Given the description of an element on the screen output the (x, y) to click on. 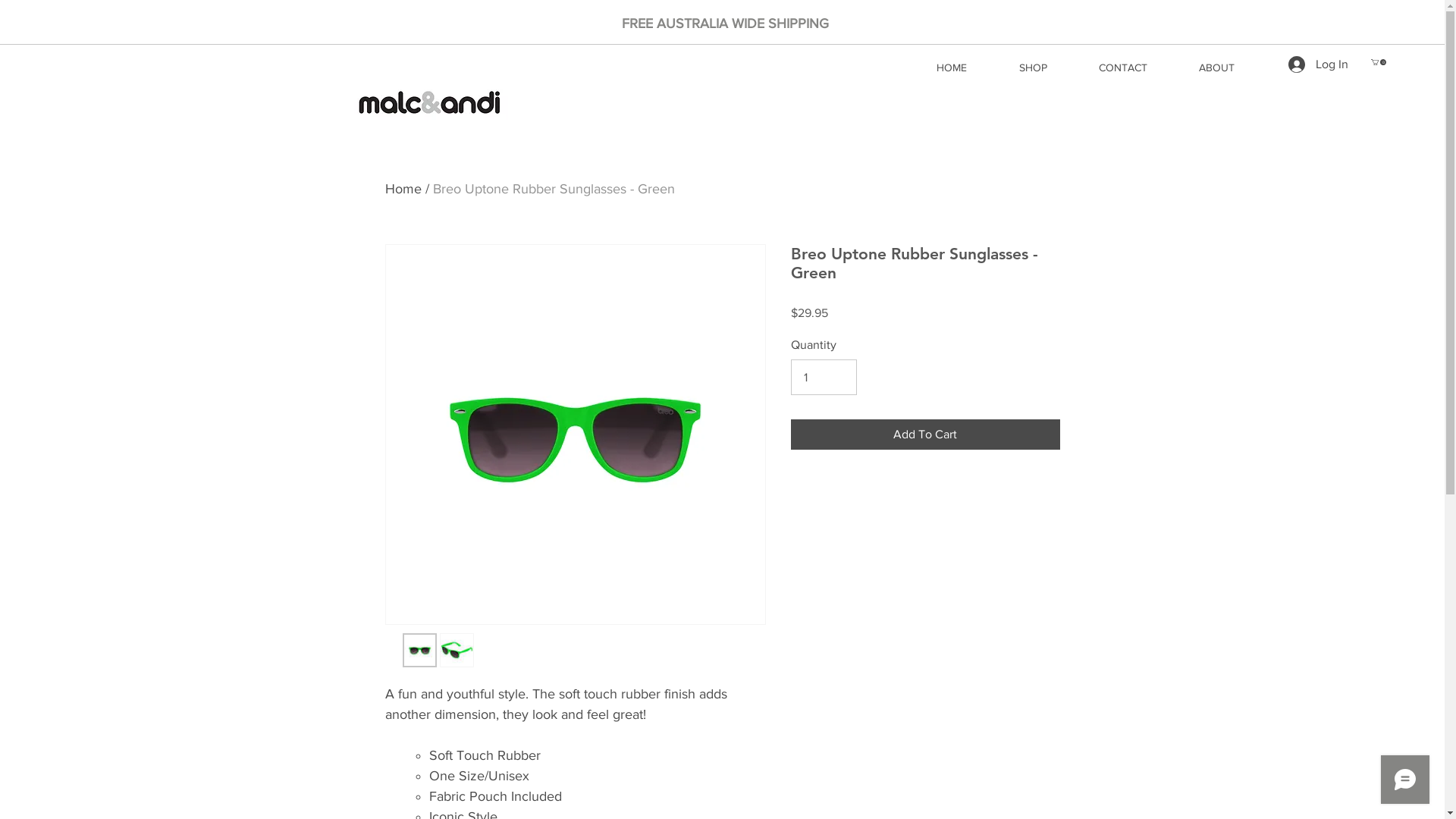
CONTACT Element type: text (1123, 67)
Log In Element type: text (1317, 64)
Add To Cart Element type: text (924, 434)
SHOP Element type: text (1032, 67)
Breo Uptone Rubber Sunglasses - Green Element type: text (553, 188)
0 Element type: text (1378, 62)
ABOUT Element type: text (1216, 67)
Home Element type: text (403, 188)
HOME Element type: text (951, 67)
